Given the description of an element on the screen output the (x, y) to click on. 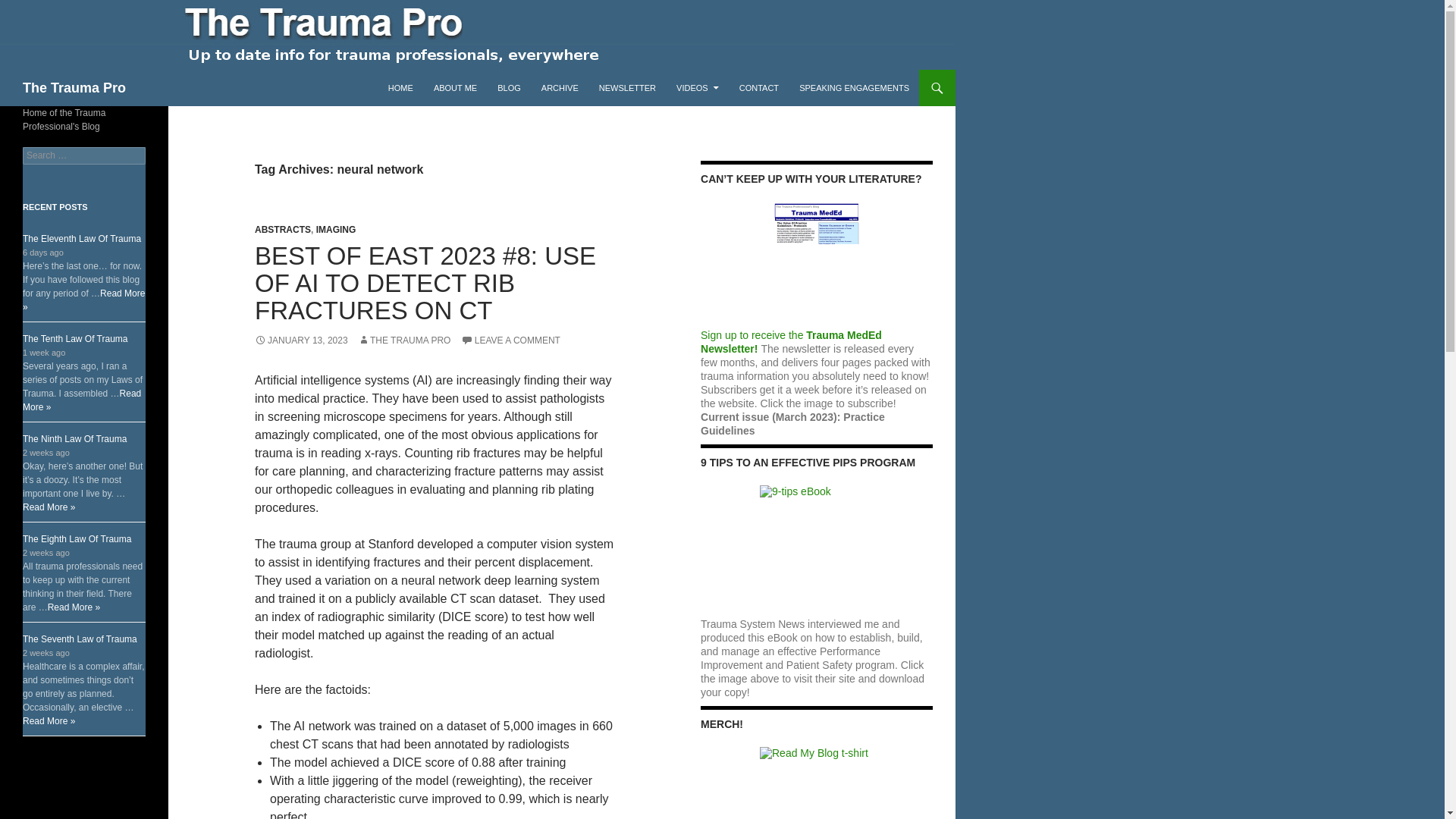
SPEAKING ENGAGEMENTS (854, 87)
The Tenth Law Of Trauma (75, 338)
ARCHIVE (560, 87)
LEAVE A COMMENT (510, 339)
ABOUT ME (455, 87)
Search (30, 8)
HOME (400, 87)
VIDEOS (697, 87)
THE TRAUMA PRO (403, 339)
NEWSLETTER (627, 87)
